Given the description of an element on the screen output the (x, y) to click on. 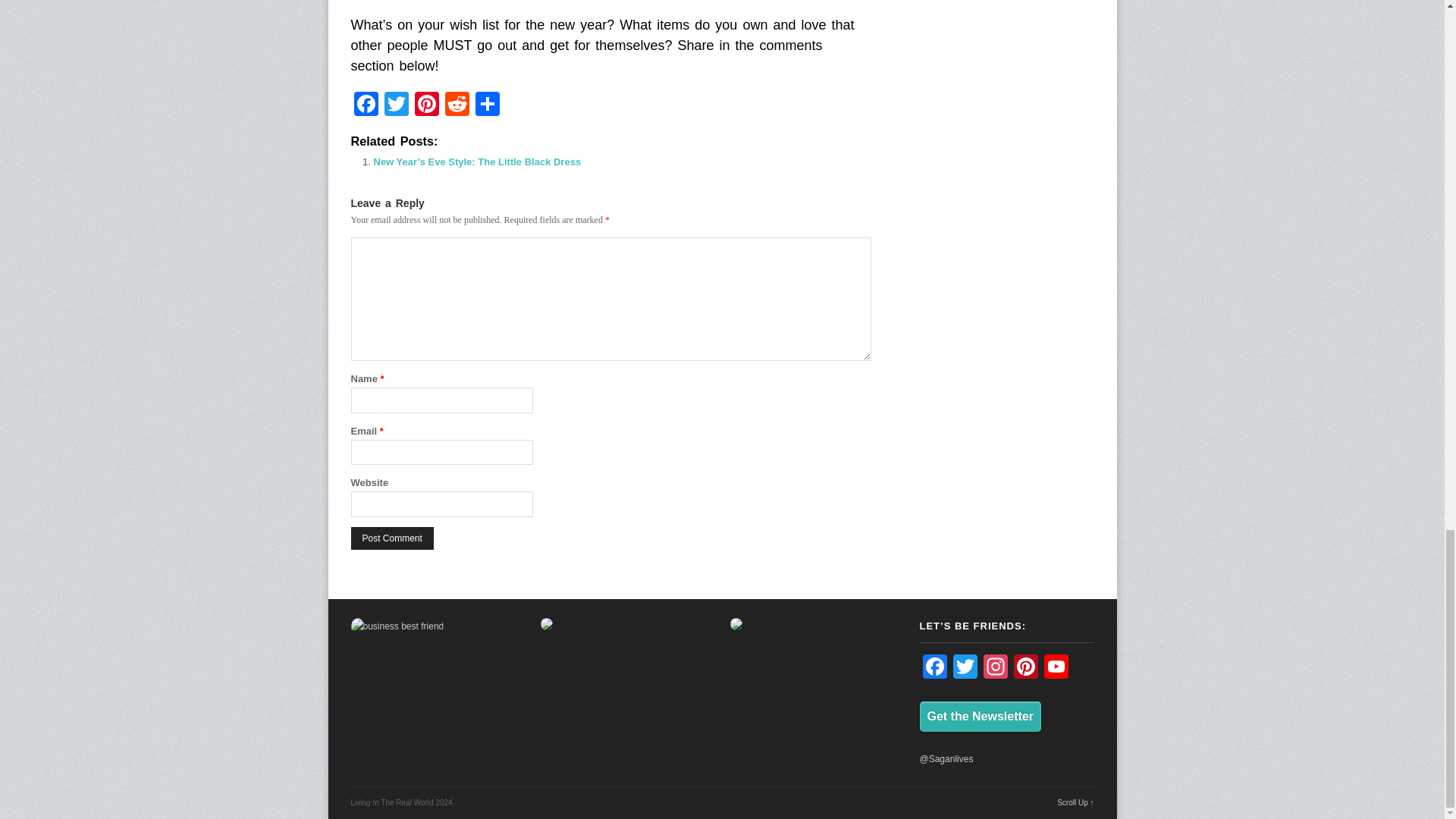
Twitter (395, 105)
Facebook (365, 105)
Post Comment (391, 538)
Twitter (395, 105)
Pinterest (425, 105)
Facebook (365, 105)
Reddit (456, 105)
Post Comment (391, 538)
Pinterest (425, 105)
Reddit (456, 105)
